Given the description of an element on the screen output the (x, y) to click on. 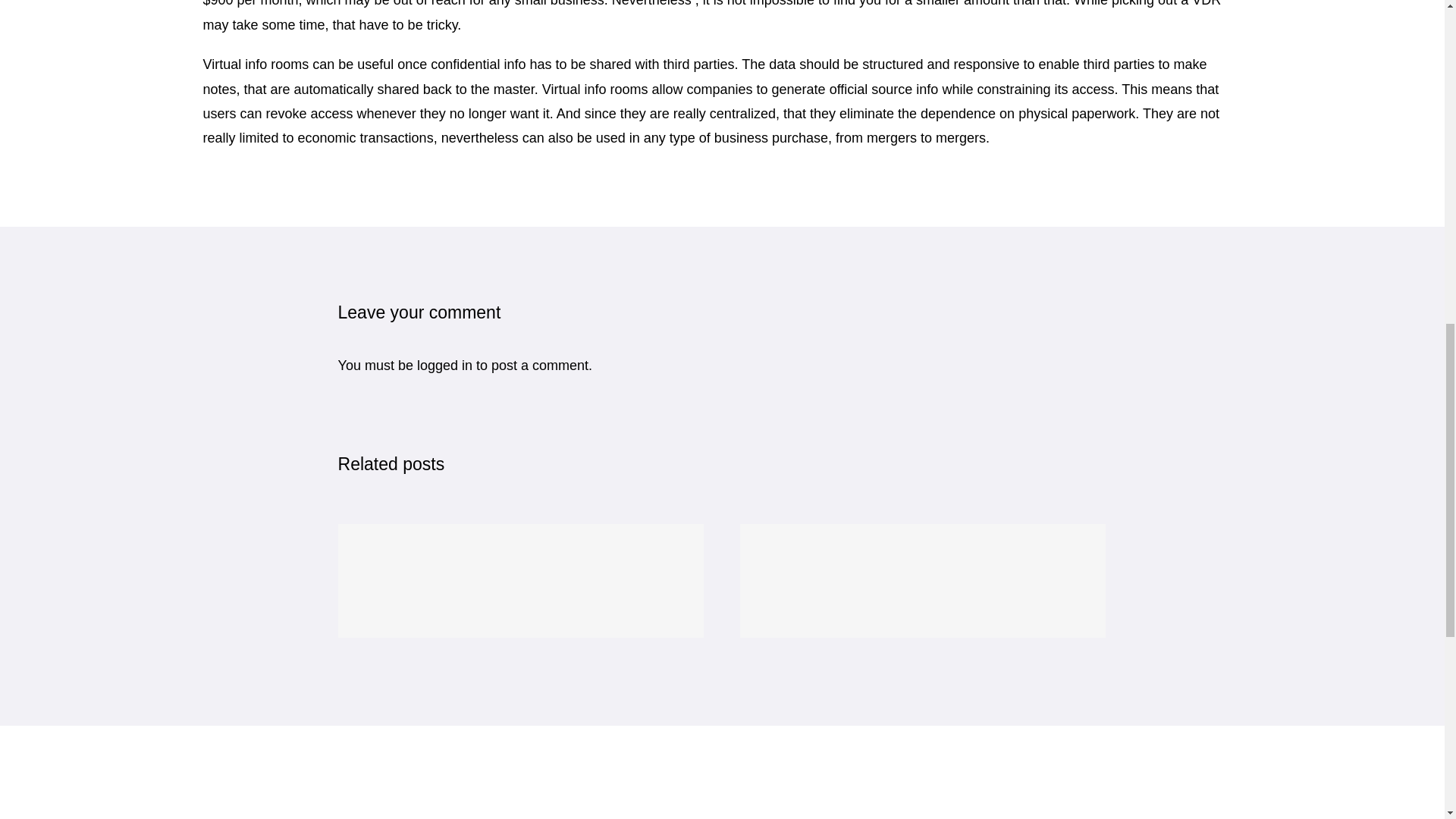
logged in (443, 365)
official source (870, 89)
